Given the description of an element on the screen output the (x, y) to click on. 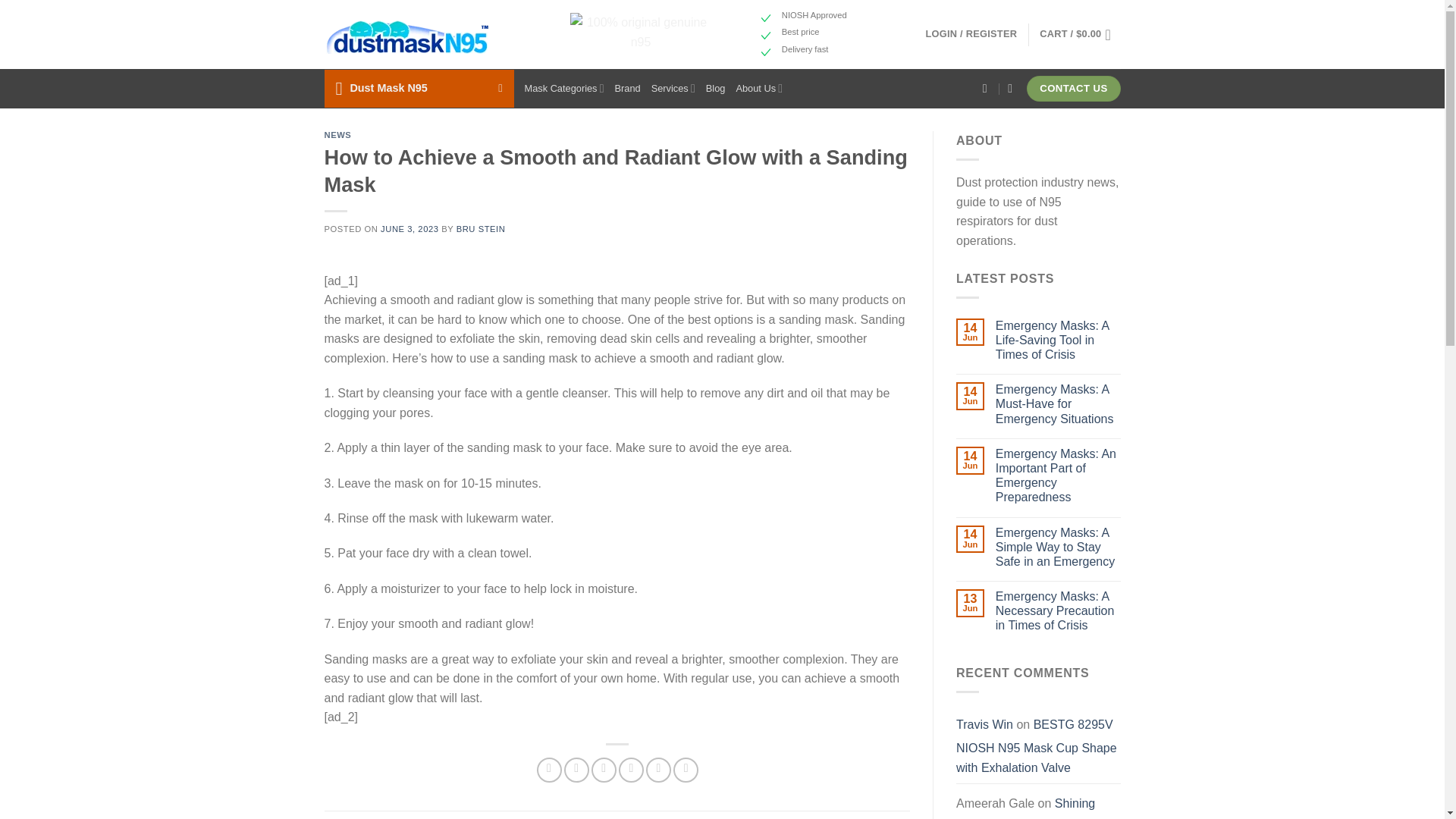
Share on LinkedIn (658, 769)
Pin on Pinterest (630, 769)
Login (970, 33)
Share on Twitter (576, 769)
Dust Mask N95 - N95 Dust Particulate Respirator for sale (408, 34)
Services (672, 88)
Share on Facebook (549, 769)
Cart (1079, 34)
Mask Categories (564, 88)
Email to a Friend (603, 769)
